Given the description of an element on the screen output the (x, y) to click on. 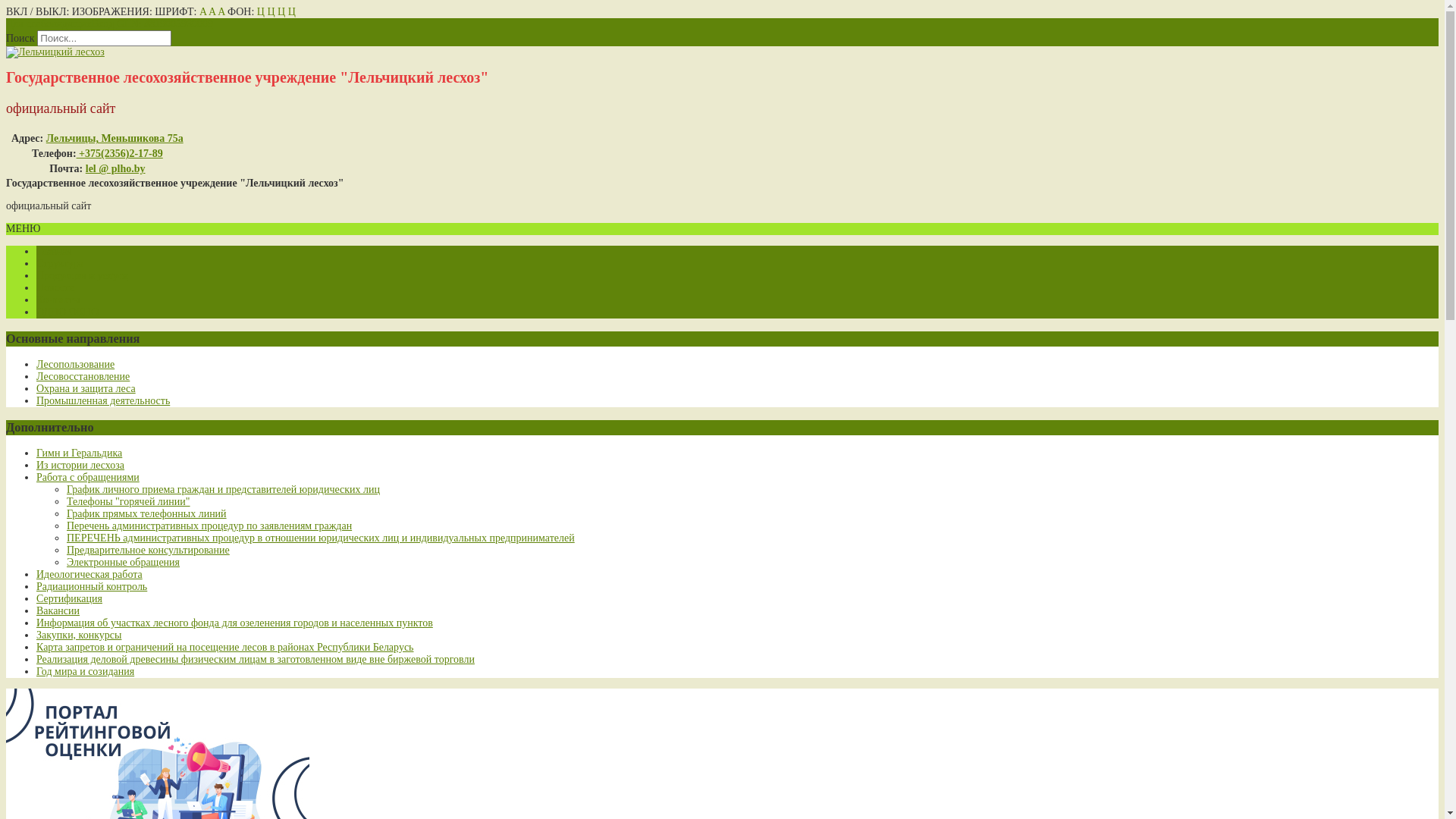
lel @ plho.by Element type: text (115, 168)
A Element type: text (220, 11)
A Element type: text (202, 11)
GLN: 4819005930009 Element type: text (164, 23)
+375(2356)2-17-89 Element type: text (119, 153)
A Element type: text (211, 11)
